Given the description of an element on the screen output the (x, y) to click on. 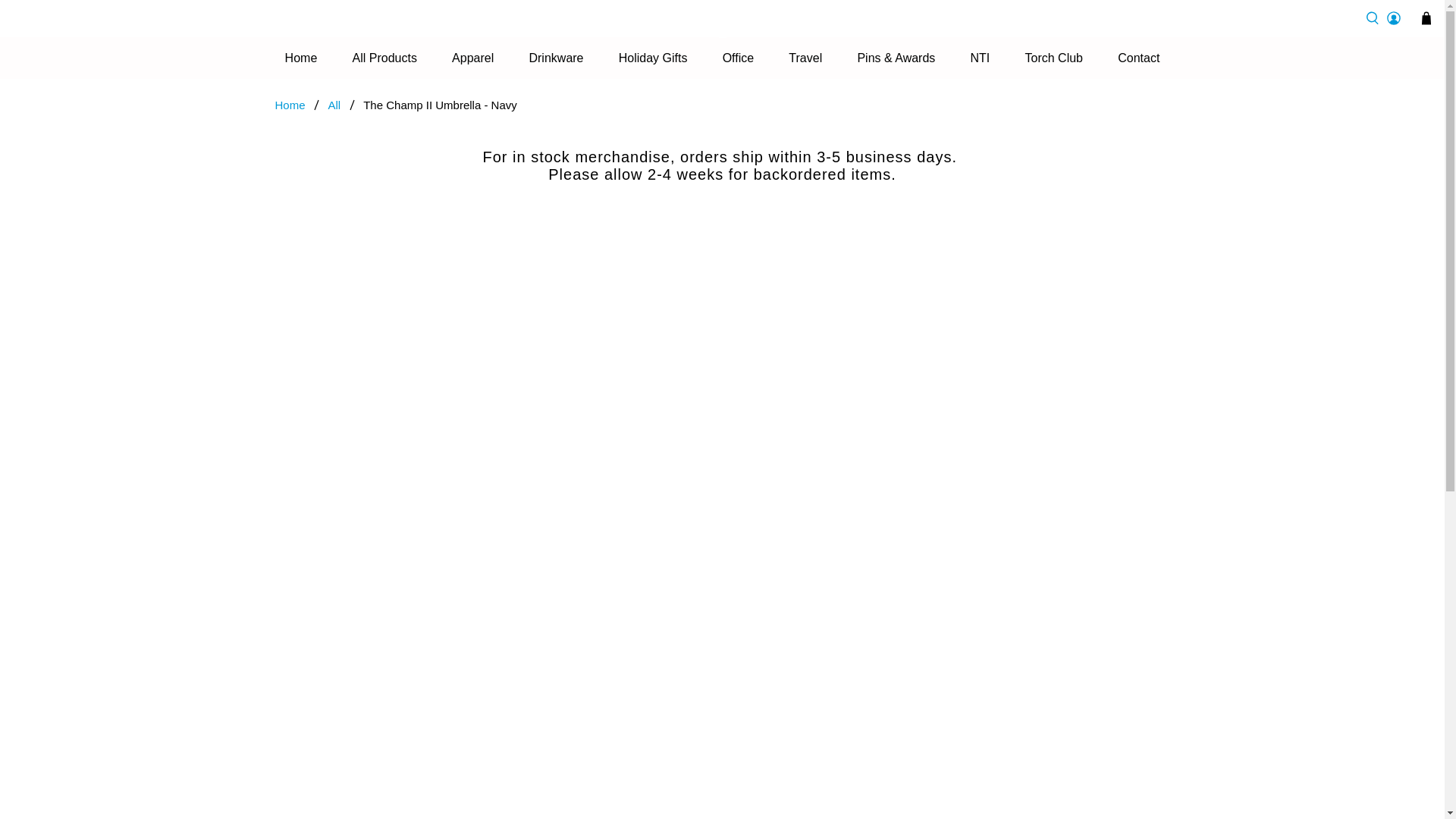
NTI (978, 57)
Home (300, 57)
Office (737, 57)
All Products (384, 57)
Travel (804, 57)
Holiday Gifts (652, 57)
Torch Club (1053, 57)
Drinkware (555, 57)
Apparel (473, 57)
Contact (1139, 57)
